Given the description of an element on the screen output the (x, y) to click on. 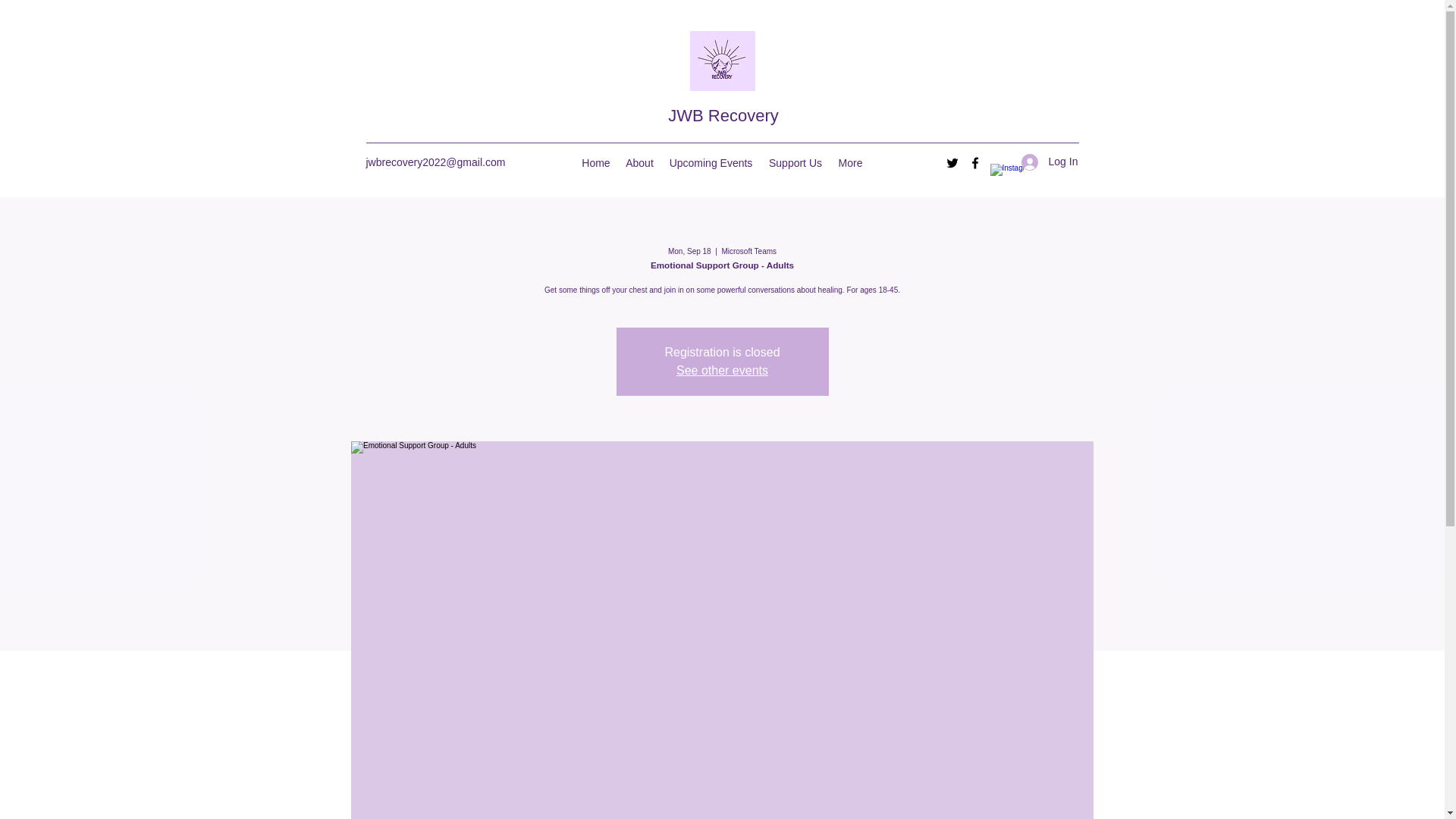
Home (595, 162)
Upcoming Events (710, 162)
Support Us (794, 162)
See other events (722, 369)
Log In (1044, 162)
About (639, 162)
